Given the description of an element on the screen output the (x, y) to click on. 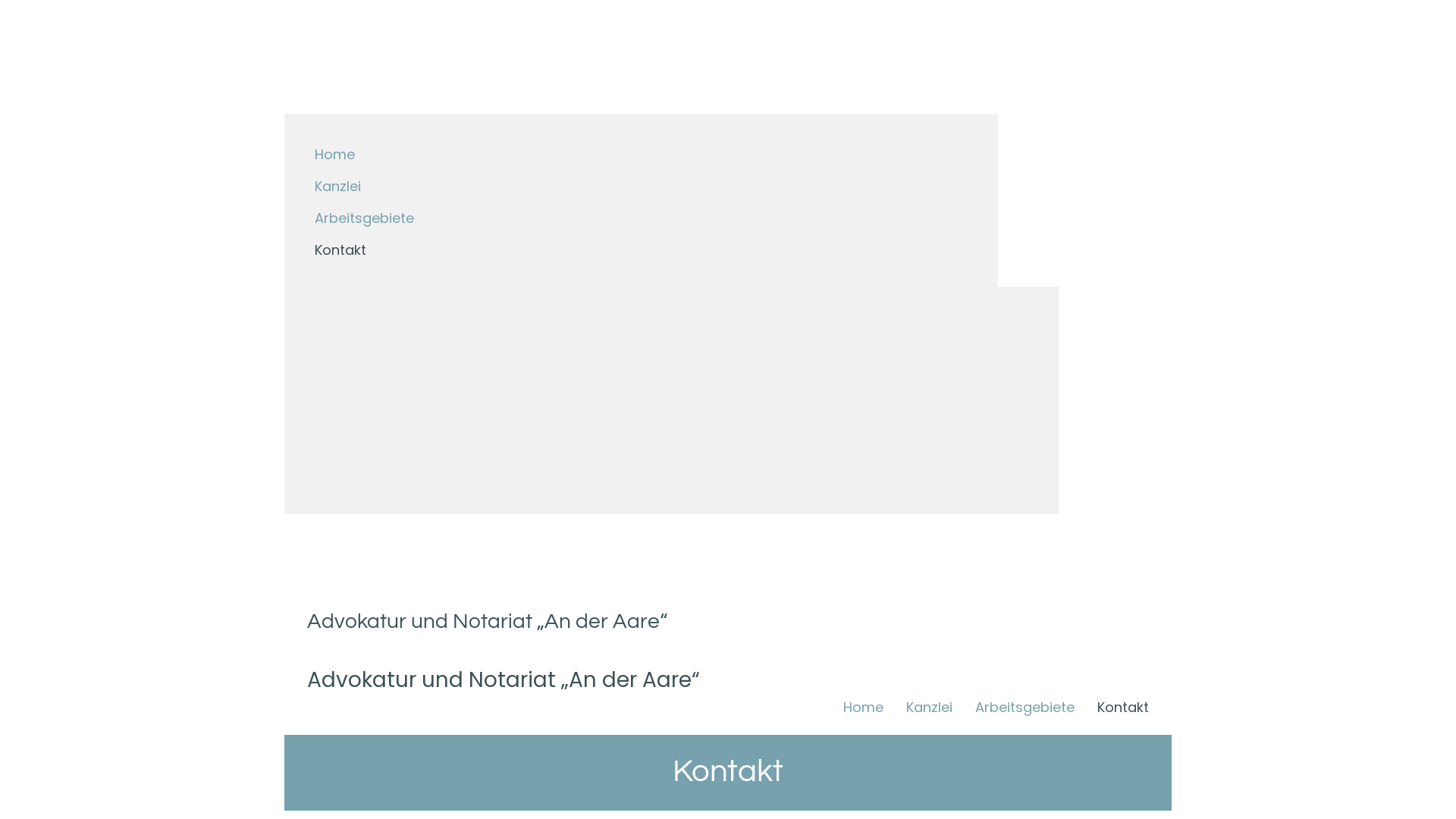
Arbeitsgebiete Element type: text (641, 216)
Arbeitsgebiete Element type: text (1024, 707)
Home Element type: text (863, 707)
Kontakt Element type: text (1122, 707)
Home Element type: text (641, 152)
Kanzlei Element type: text (929, 707)
Kontakt Element type: text (641, 247)
Kanzlei Element type: text (641, 184)
